Given the description of an element on the screen output the (x, y) to click on. 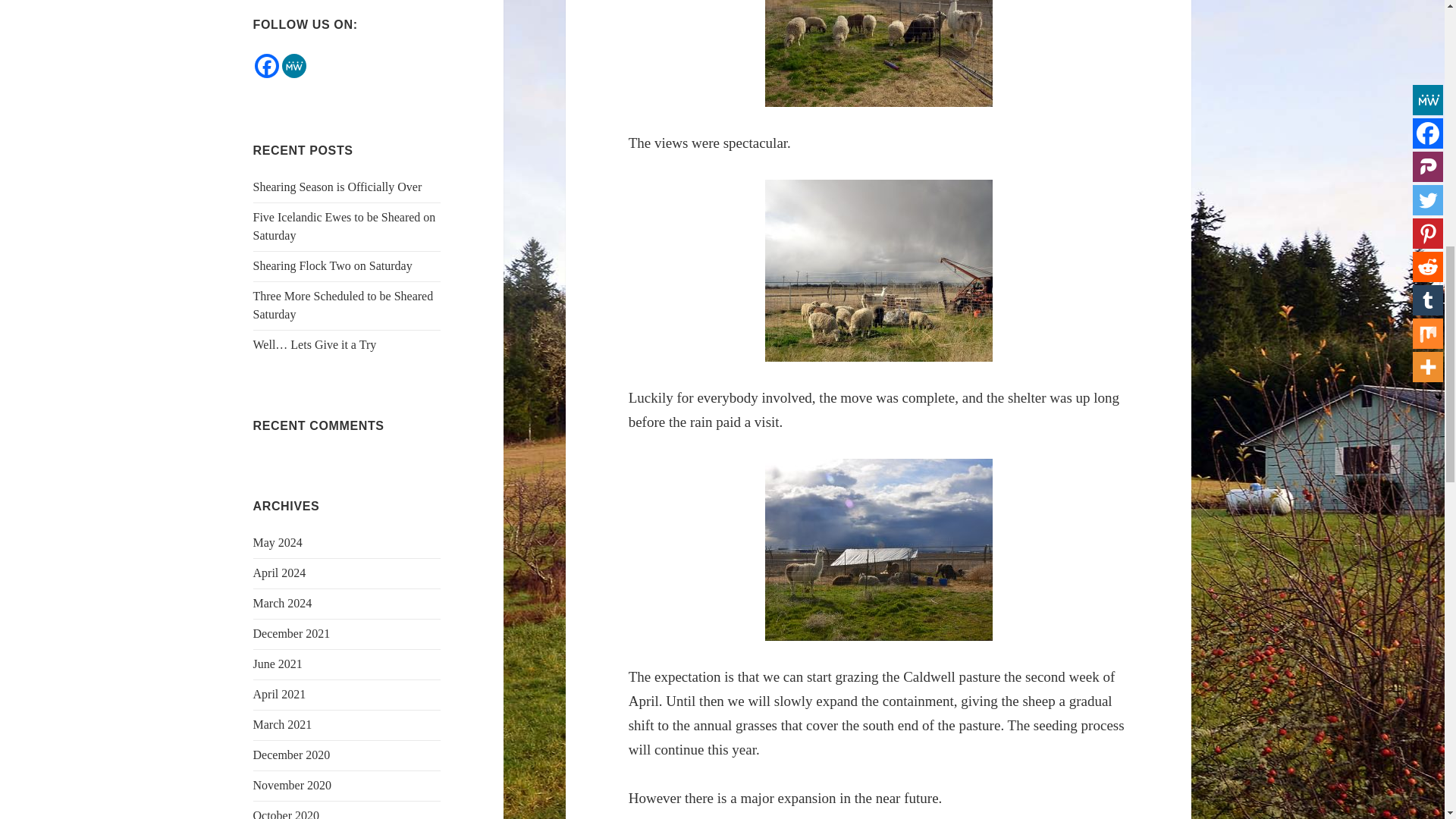
March 2024 (283, 603)
April 2021 (279, 694)
Mewe (293, 65)
December 2020 (291, 754)
March 2021 (283, 724)
May 2024 (277, 542)
June 2021 (277, 663)
Shearing Flock Two on Saturday (332, 265)
Three More Scheduled to be Sheared Saturday (343, 305)
October 2020 (286, 814)
November 2020 (292, 784)
Five Icelandic Ewes to be Sheared on Saturday (344, 225)
Shearing Season is Officially Over (337, 186)
Facebook (266, 65)
December 2021 (291, 633)
